Given the description of an element on the screen output the (x, y) to click on. 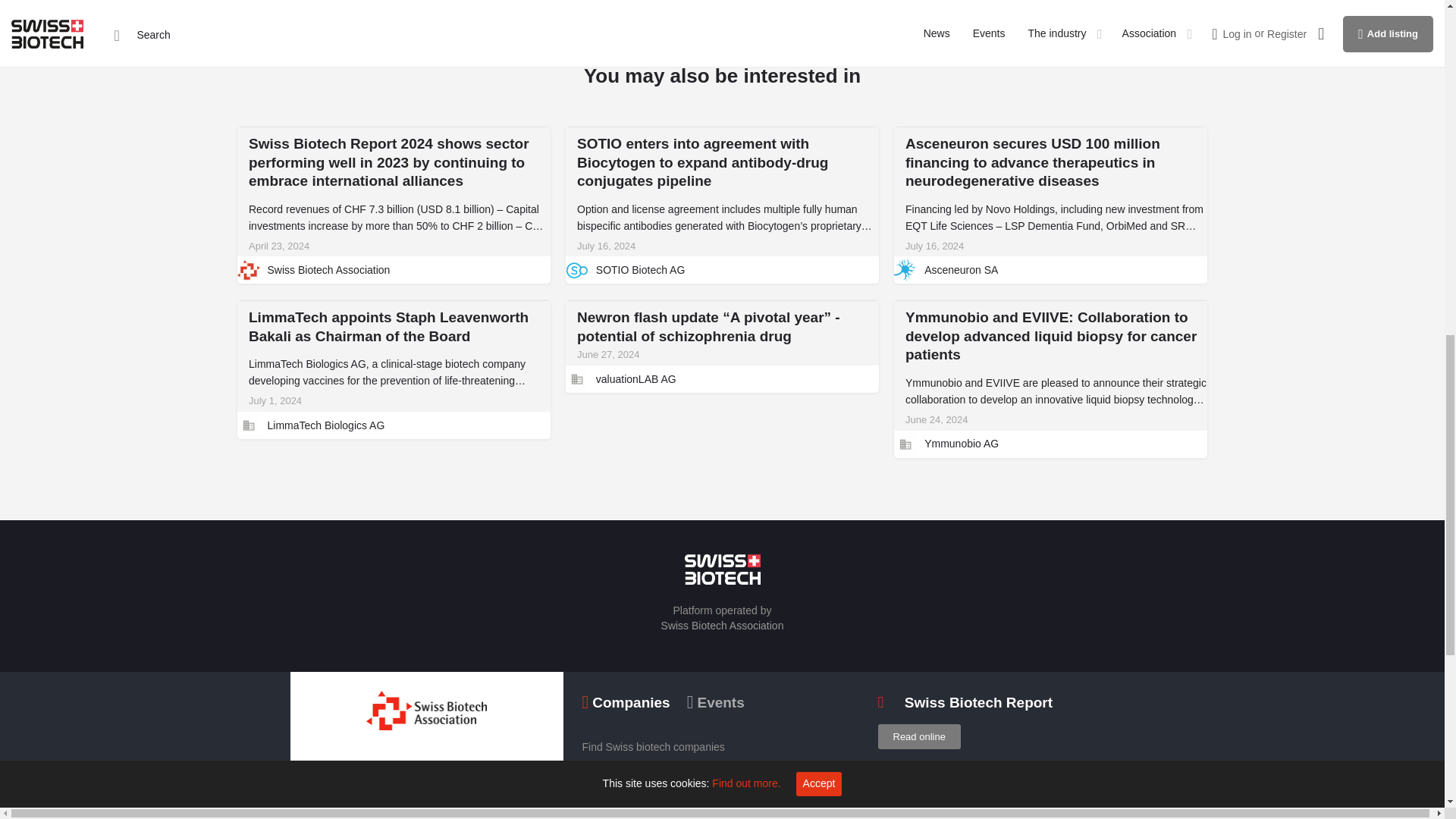
swiss-biotech-logo-neg (722, 569)
